Given the description of an element on the screen output the (x, y) to click on. 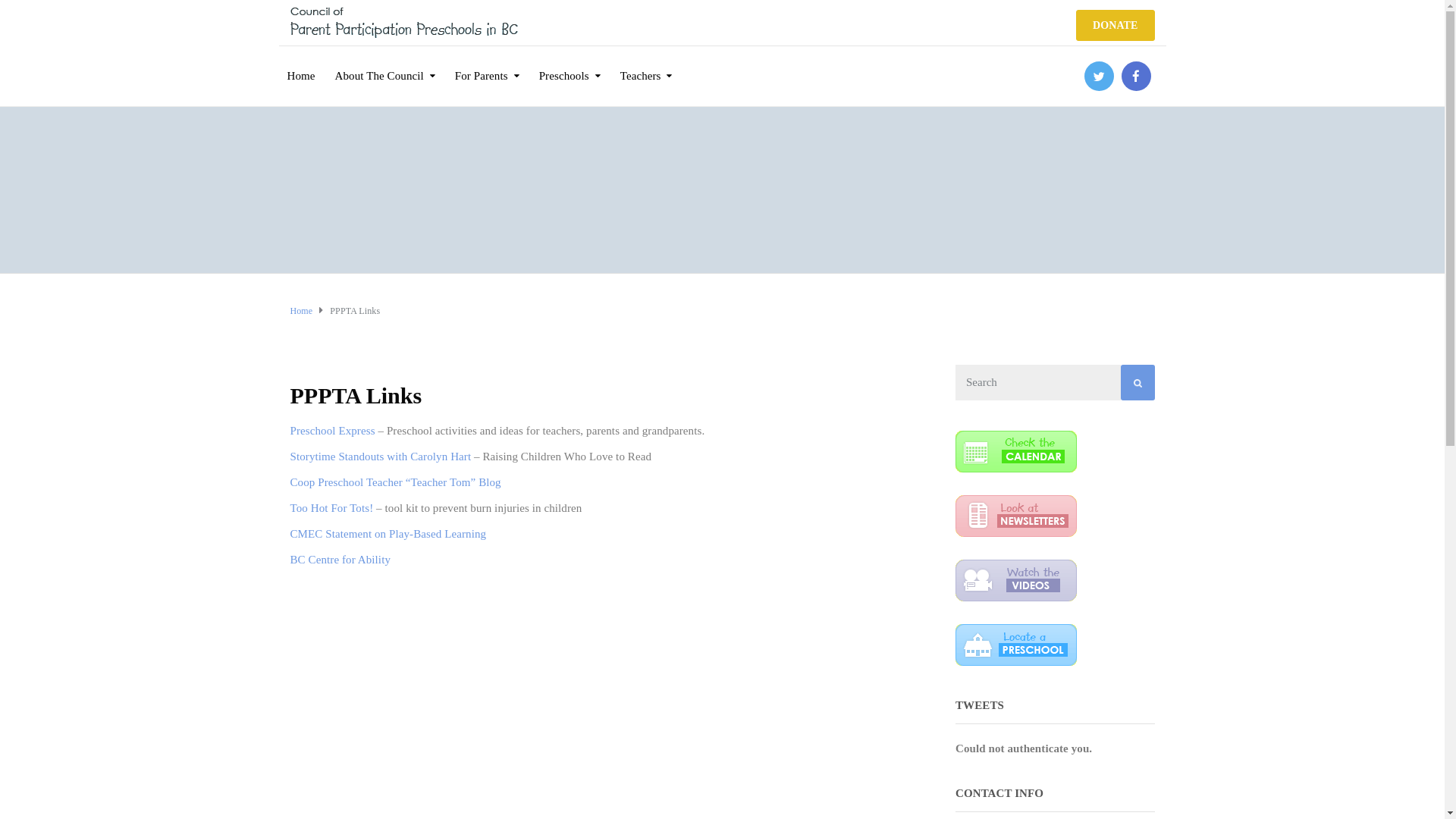
Preschools Element type: text (569, 65)
About The Council Element type: text (385, 65)
CMEC Statement on Play-Based Learning Element type: text (387, 533)
Home Element type: text (300, 65)
BC Centre for Ability Element type: text (339, 559)
For Parents Element type: text (487, 65)
Too Hot For Tots! Element type: text (331, 508)
DONATE Element type: text (1115, 24)
Home Element type: text (300, 310)
Preschool Express Element type: text (331, 430)
Storytime Standouts with Carolyn Hart Element type: text (379, 456)
Teachers Element type: text (646, 65)
